Given the description of an element on the screen output the (x, y) to click on. 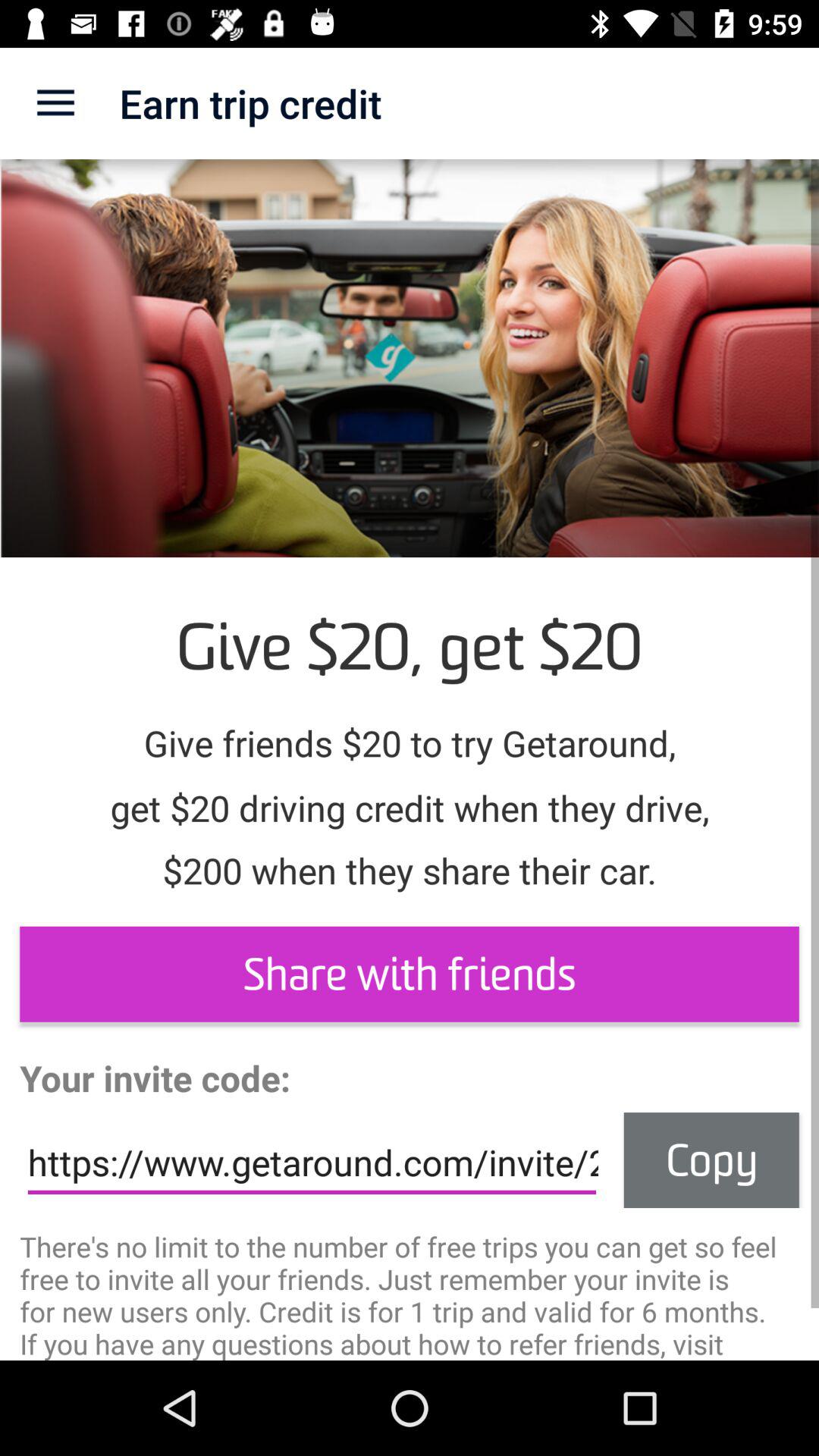
press the item to the left of the copy (311, 1163)
